Given the description of an element on the screen output the (x, y) to click on. 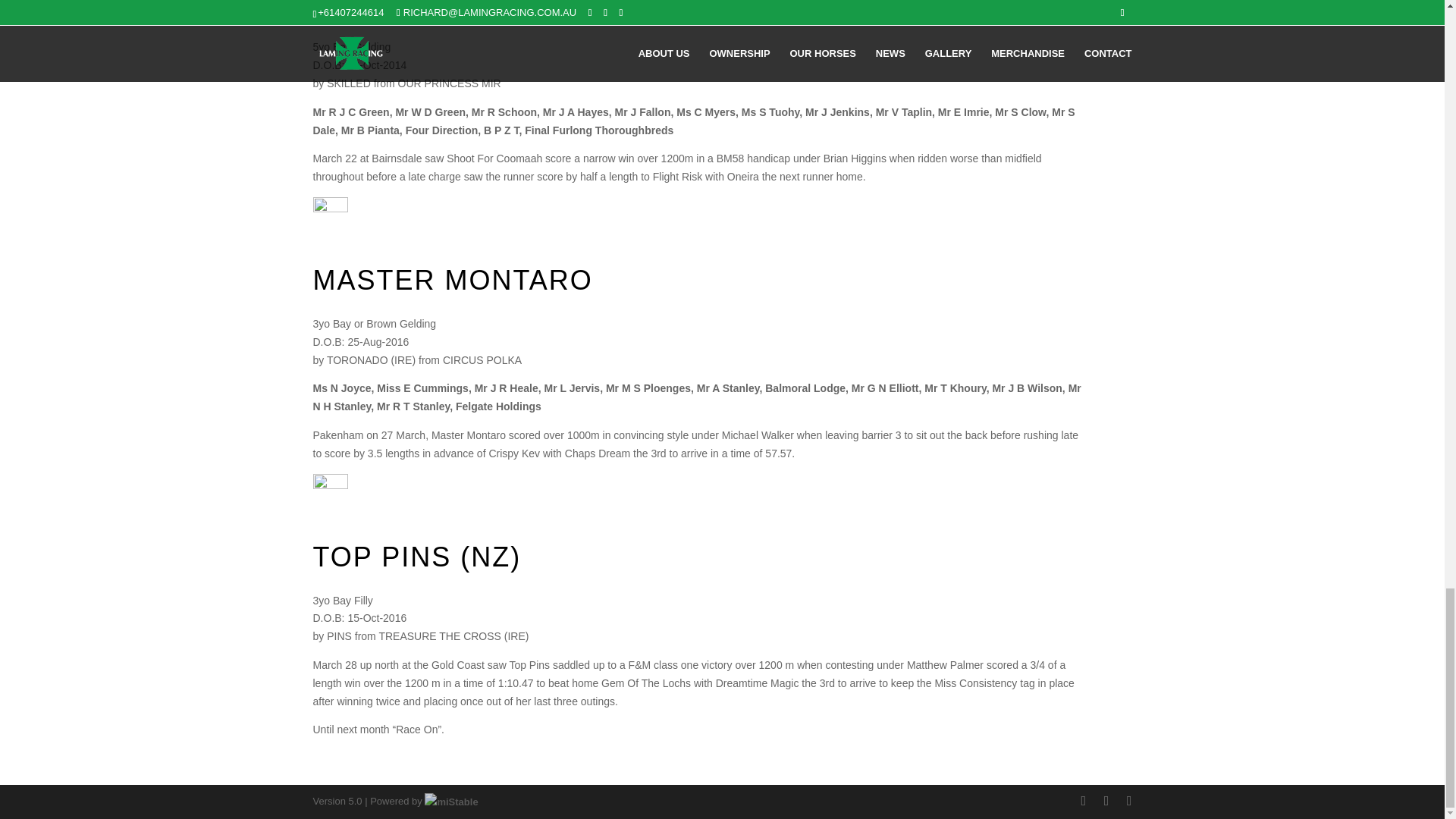
Horse Management Software (451, 800)
